Given the description of an element on the screen output the (x, y) to click on. 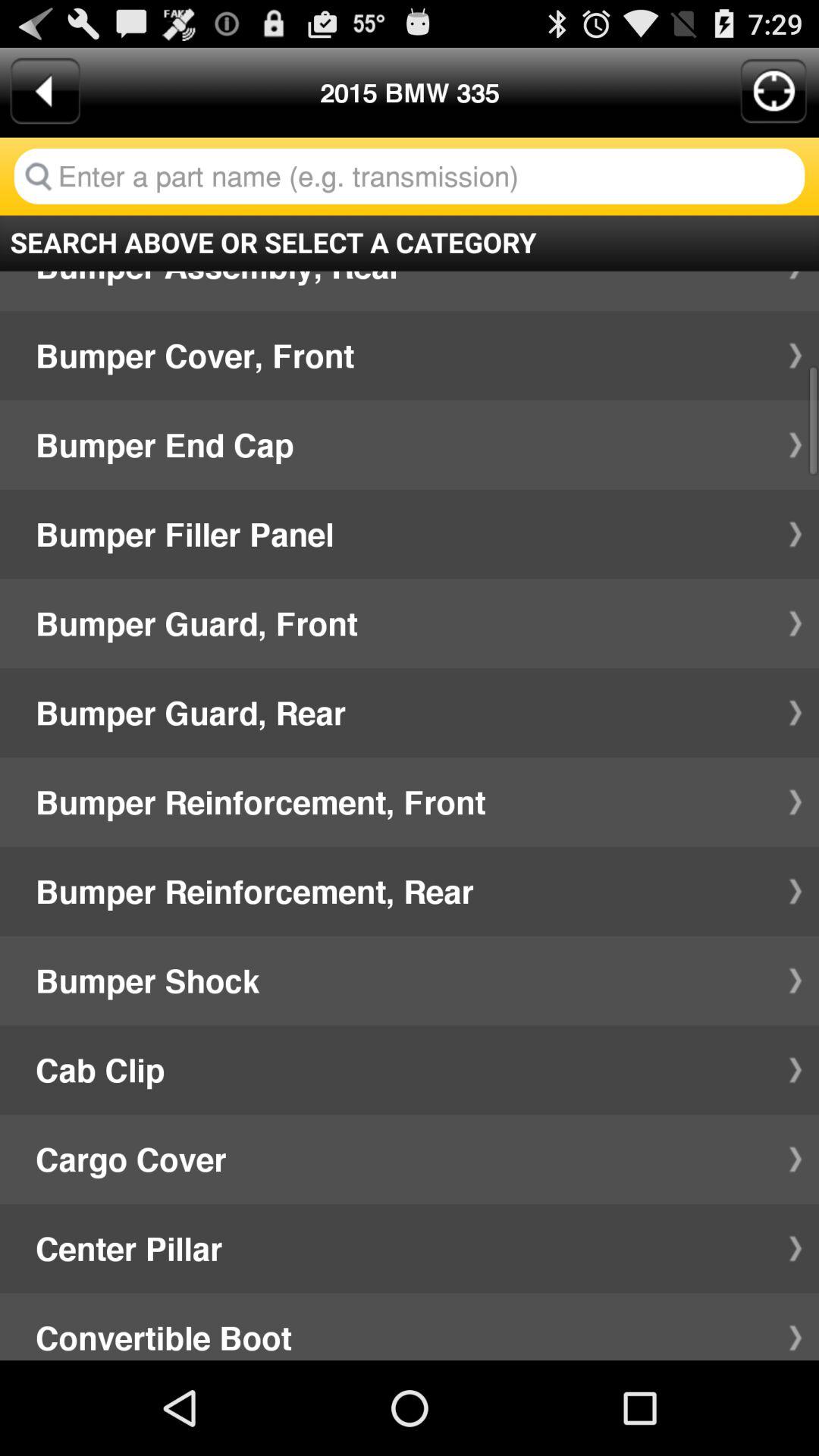
press app next to the 2015 bmw 335 app (45, 90)
